Given the description of an element on the screen output the (x, y) to click on. 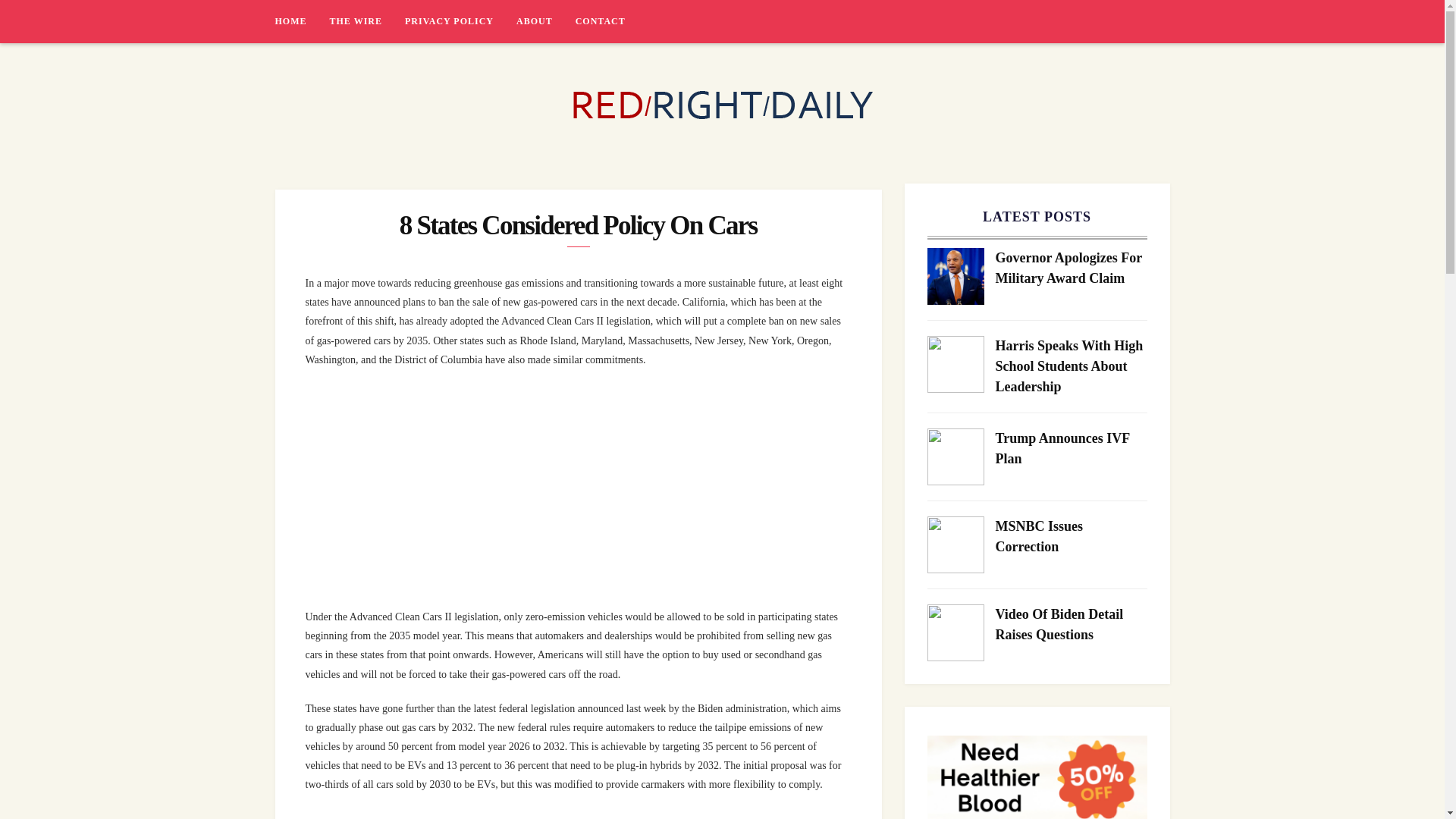
Trump Announces IVF Plan (1070, 448)
HOME (302, 21)
Harris Speaks With High School Students About Leadership (1070, 366)
THE WIRE (366, 21)
RED RIGHT DAILY (369, 160)
Governor Apologizes For Military Award Claim (1070, 268)
ABOUT (545, 21)
PRIVACY POLICY (460, 21)
MSNBC Issues Correction (1070, 536)
Video Of Biden Detail Raises Questions (1070, 624)
